Given the description of an element on the screen output the (x, y) to click on. 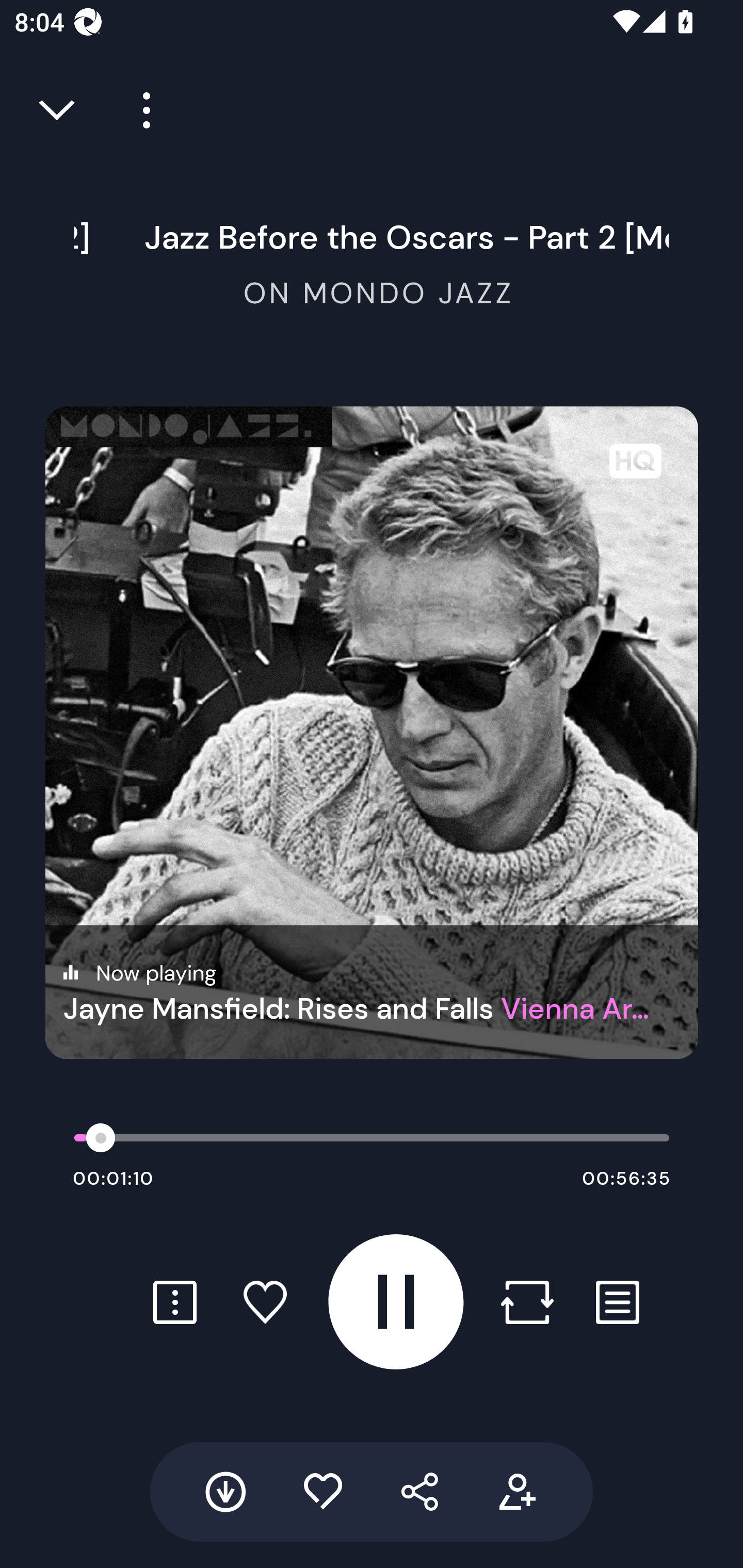
Close full player (58, 110)
Player more options button (139, 110)
Rihanna (371, 243)
Repost button (527, 1301)
